Given the description of an element on the screen output the (x, y) to click on. 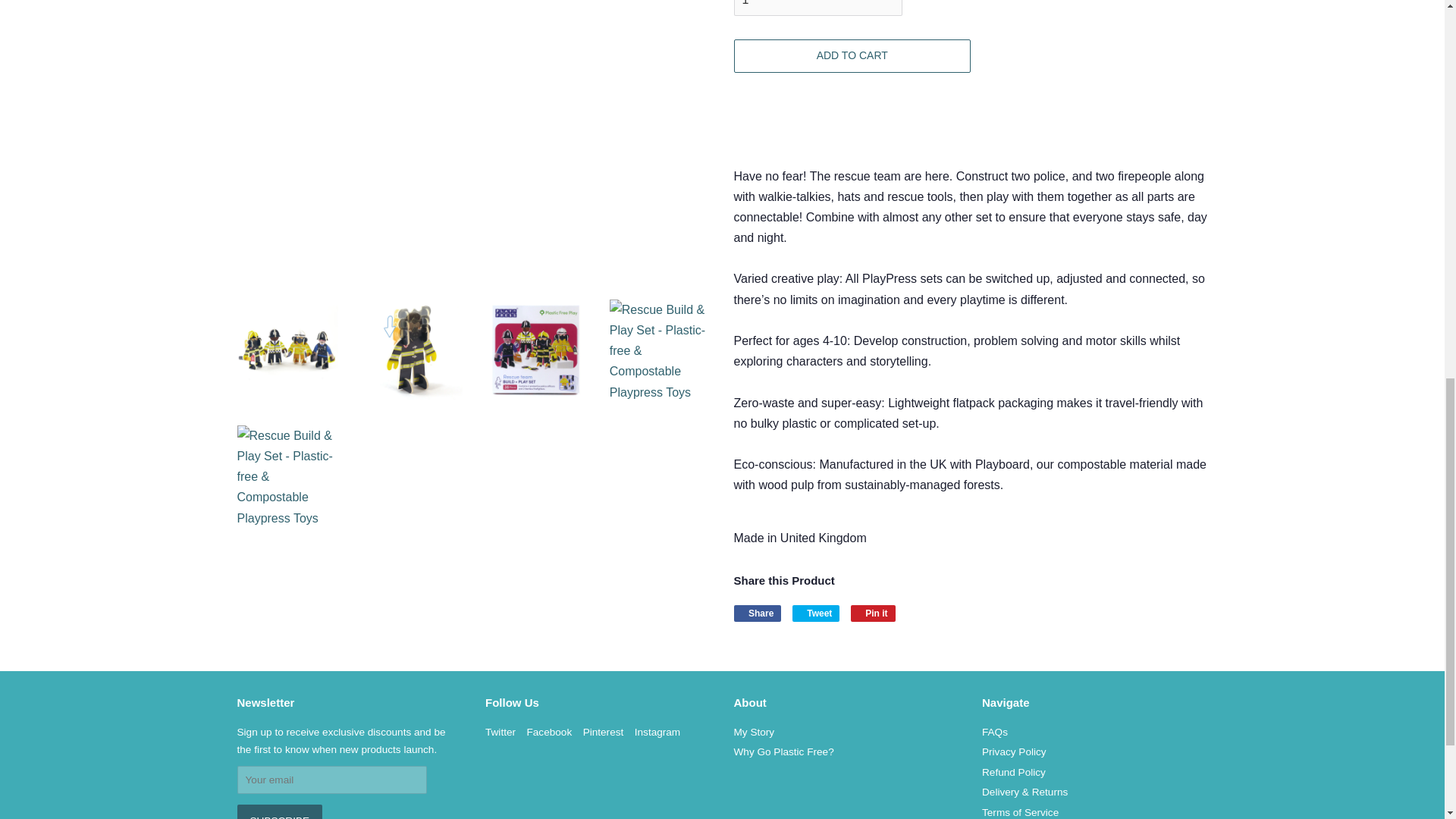
Plastic Free Baby on Twitter (499, 731)
Subscribe (278, 811)
Tweet on Twitter (816, 613)
Plastic Free Baby on Facebook (548, 731)
Pin on Pinterest (872, 613)
Plastic Free Baby on Pinterest (603, 731)
Share on Facebook (757, 613)
Plastic Free Baby on Instagram (656, 731)
1 (817, 7)
